Given the description of an element on the screen output the (x, y) to click on. 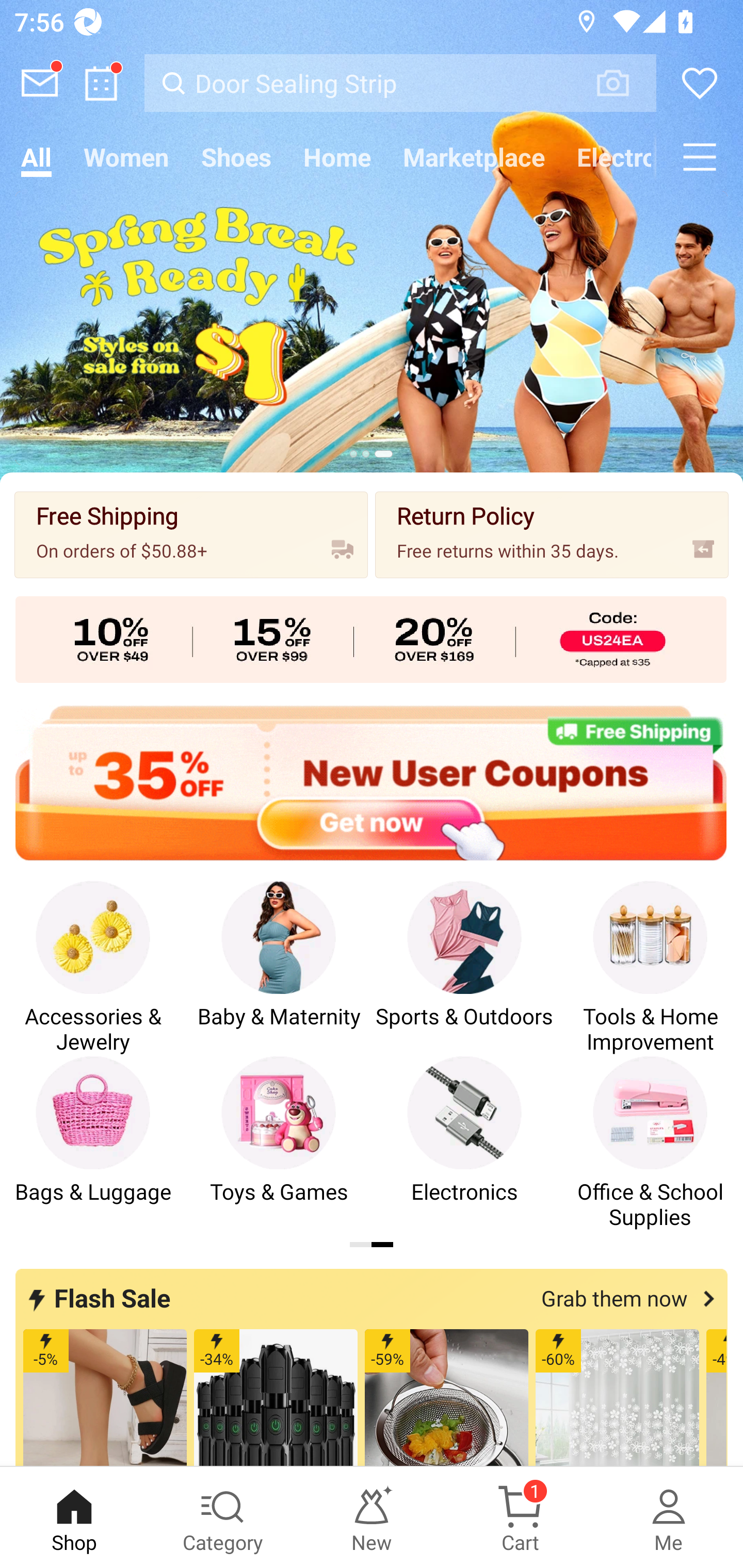
Wishlist (699, 82)
VISUAL SEARCH (623, 82)
All (36, 156)
Women (126, 156)
Shoes (236, 156)
Home (337, 156)
Marketplace (473, 156)
Electronics (608, 156)
Free Shipping On orders of $50.88+ (190, 534)
Return Policy Free returns within 35 days. (551, 534)
Accessories & Jewelry (92, 968)
Baby & Maternity (278, 968)
Sports & Outdoors (464, 968)
Tools & Home Improvement (650, 968)
Bags & Luggage (92, 1142)
Toys & Games (278, 1142)
Electronics (464, 1142)
Office & School Supplies (650, 1142)
Category (222, 1517)
New (371, 1517)
Cart 1 Cart (519, 1517)
Me (668, 1517)
